Given the description of an element on the screen output the (x, y) to click on. 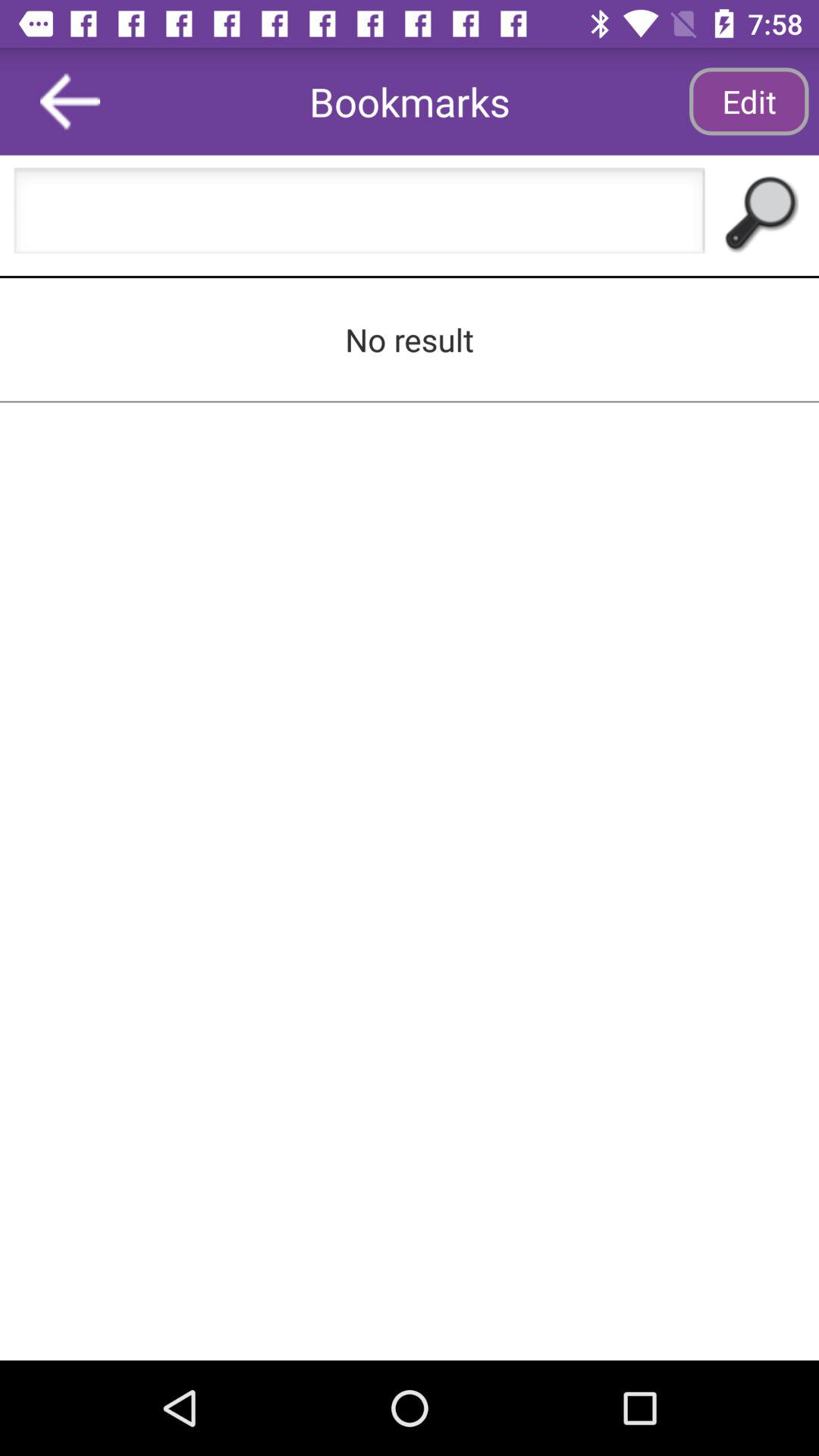
jump to edit item (748, 101)
